Given the description of an element on the screen output the (x, y) to click on. 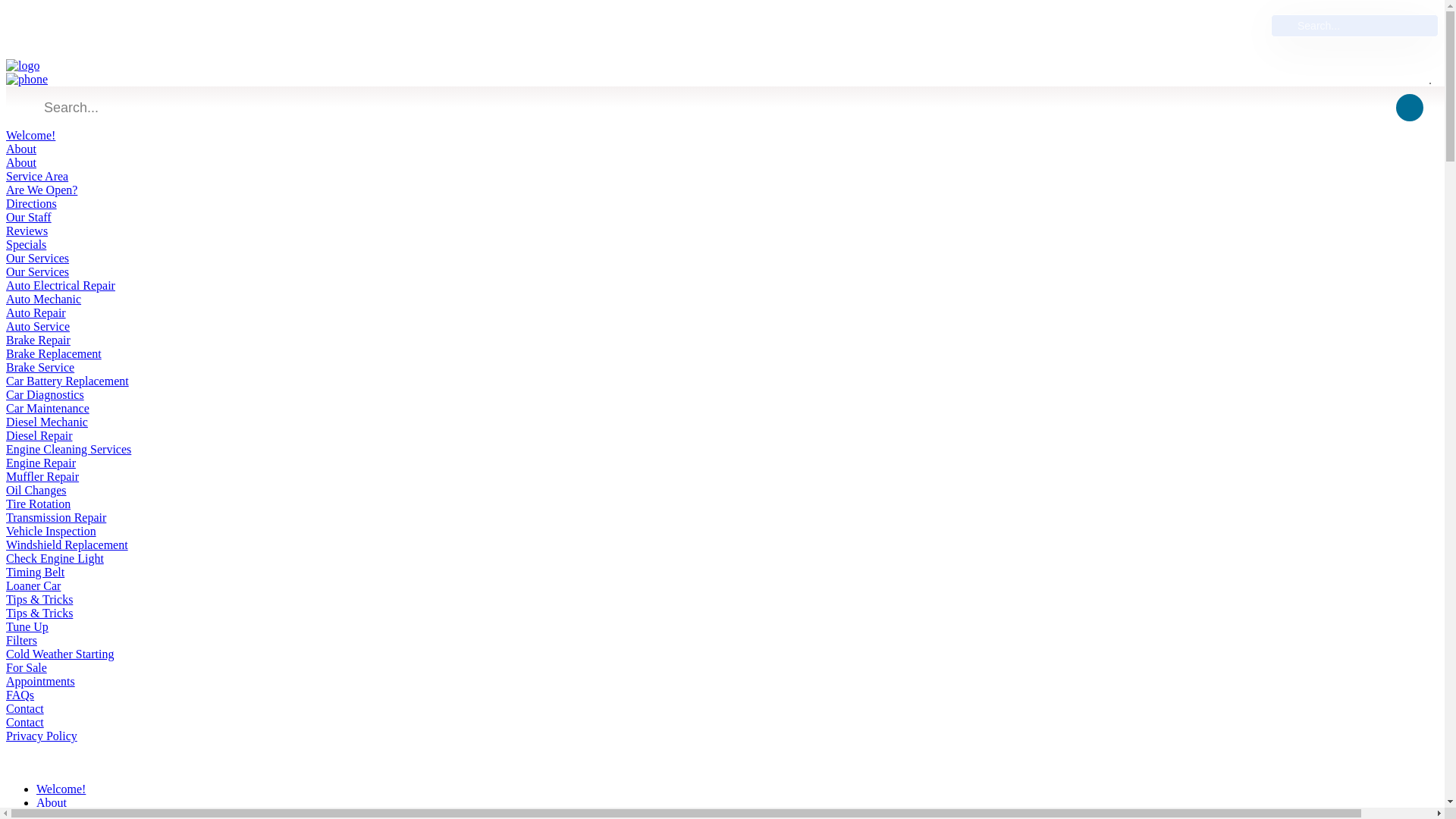
Auto Service (37, 326)
Auto Mechanic (43, 298)
About (20, 148)
Diesel Mechanic (46, 421)
Car Maintenance (46, 408)
Oil Changes (35, 490)
Engine Repair (40, 462)
Transmission Repair (55, 517)
Our Services (36, 271)
Auto Repair (35, 312)
Diesel Repair (38, 435)
Engine Cleaning Services (68, 449)
Brake Replacement (53, 353)
Car Battery Replacement (67, 380)
Check Engine Light (54, 558)
